Given the description of an element on the screen output the (x, y) to click on. 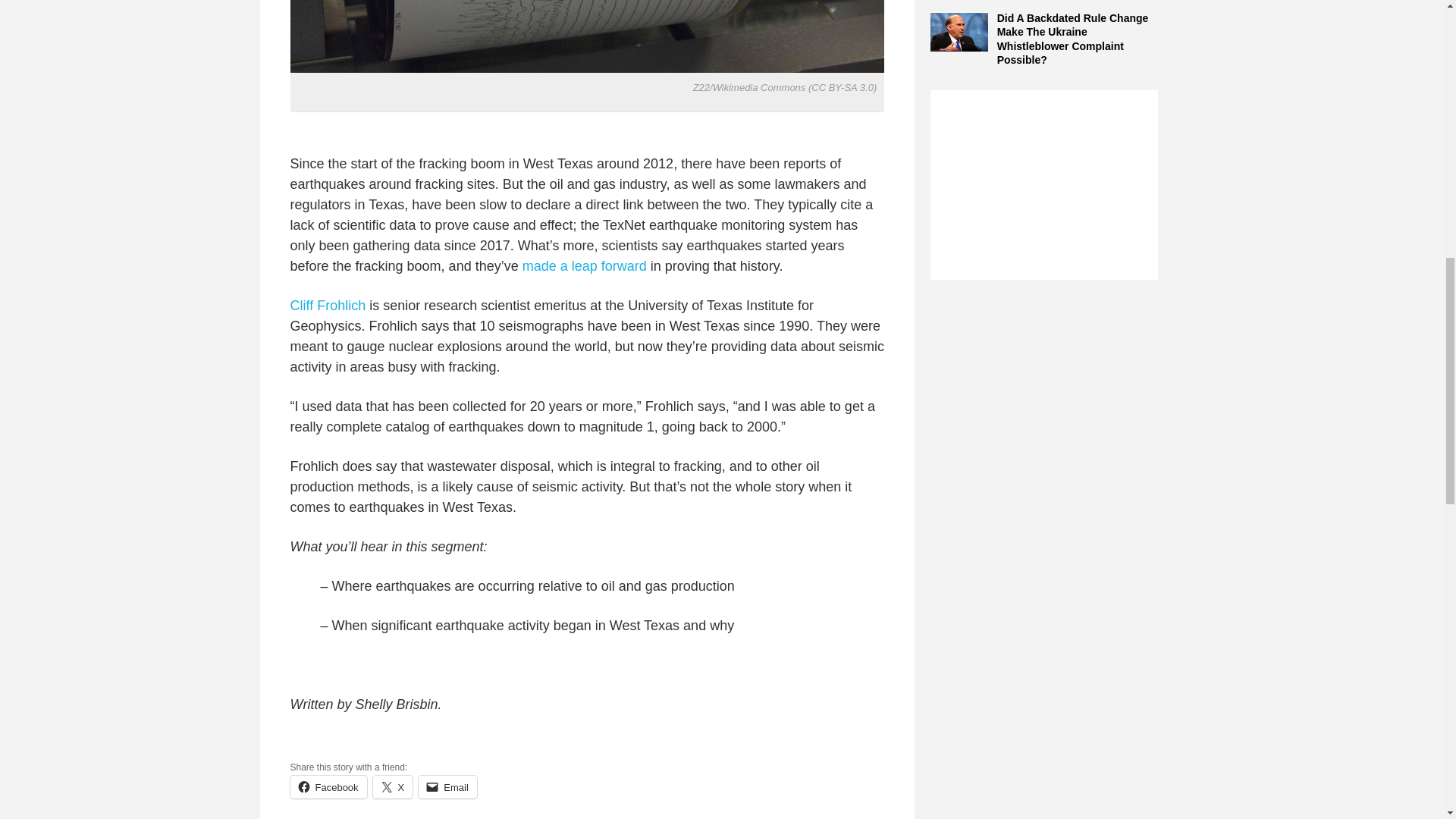
3rd party ad content (1043, 185)
Click to share on X (392, 786)
Click to share on Facebook (327, 786)
Click to email a link to a friend (448, 786)
